Given the description of an element on the screen output the (x, y) to click on. 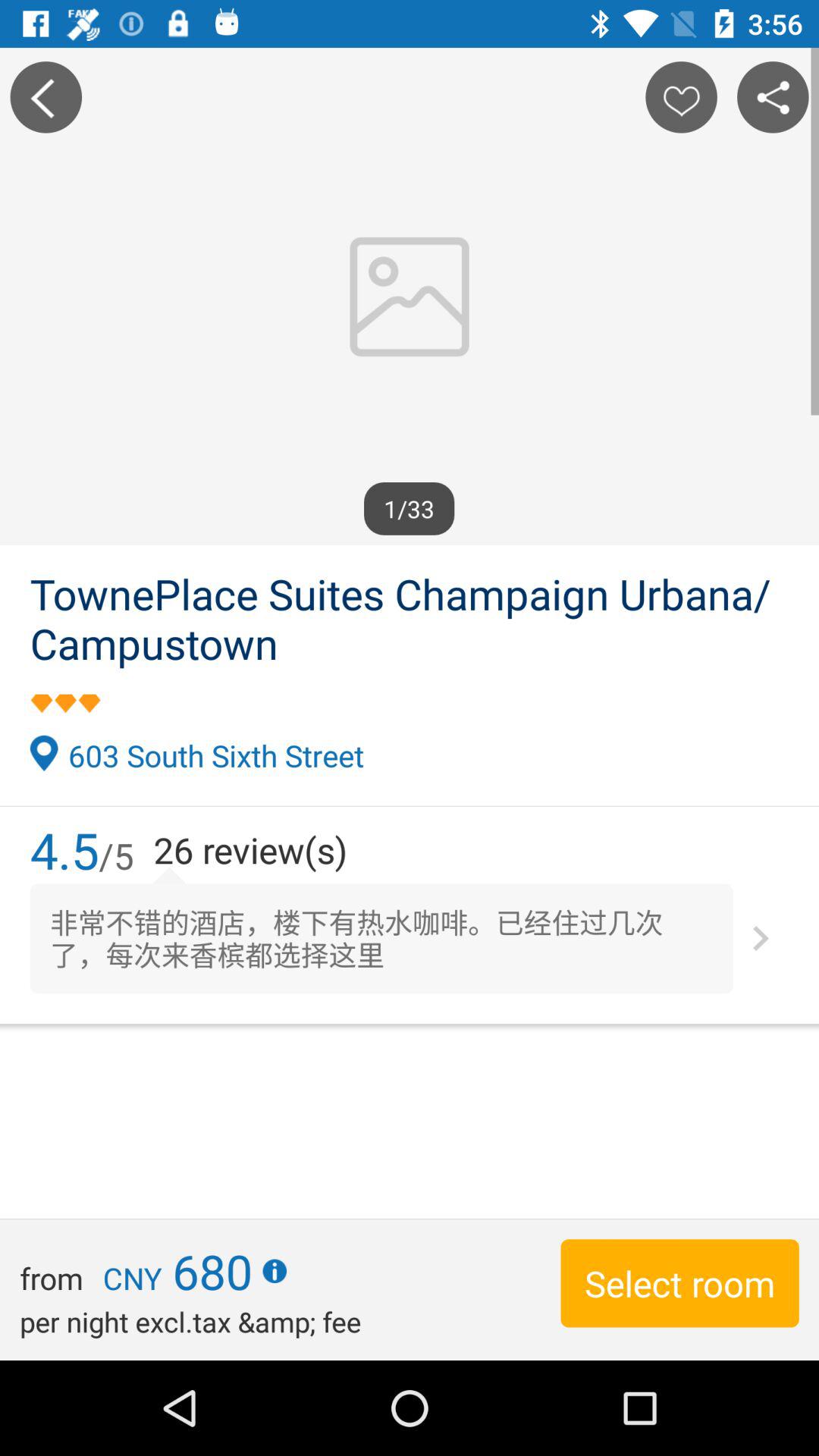
go back (45, 97)
